Given the description of an element on the screen output the (x, y) to click on. 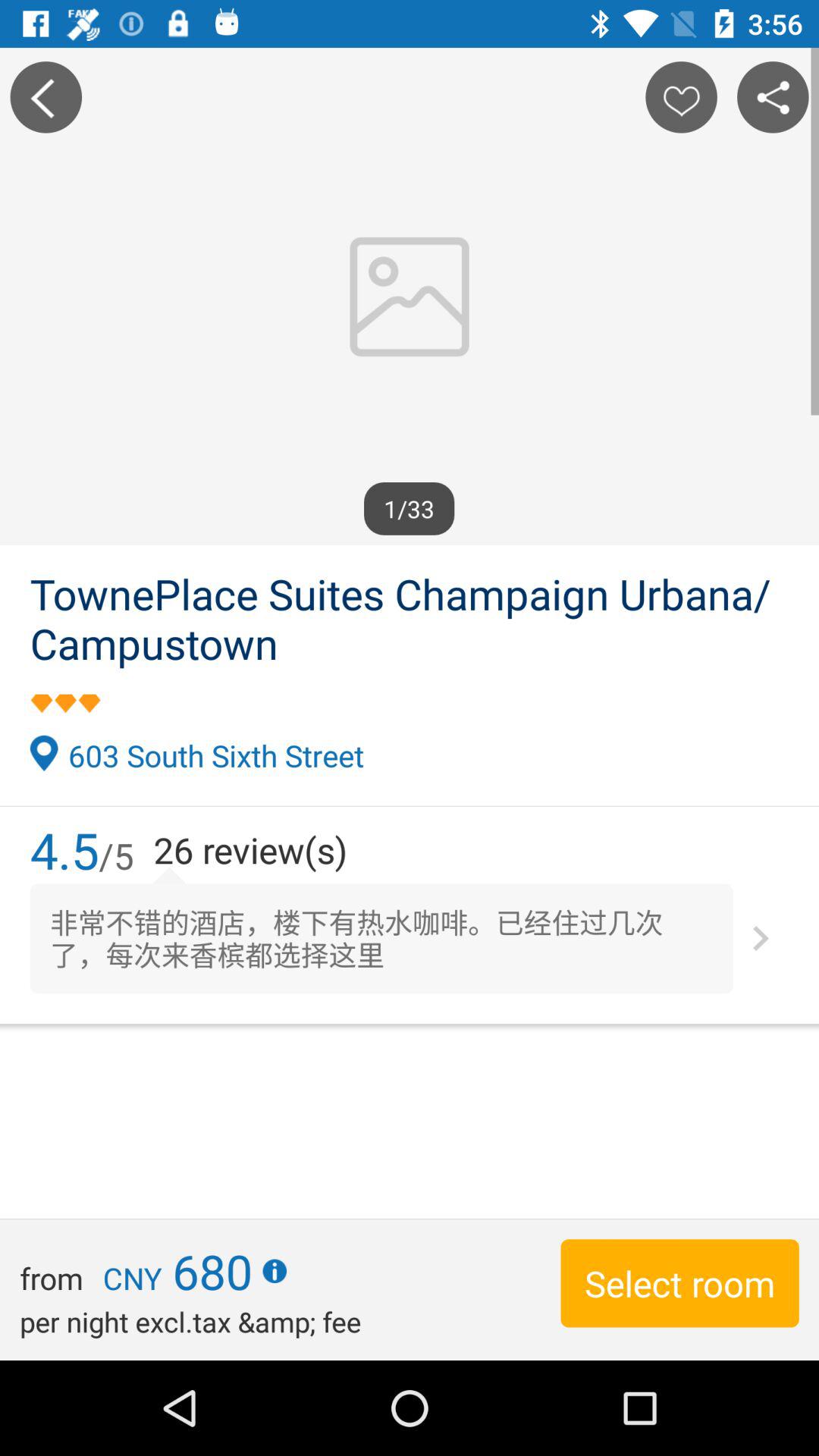
go back (45, 97)
